Given the description of an element on the screen output the (x, y) to click on. 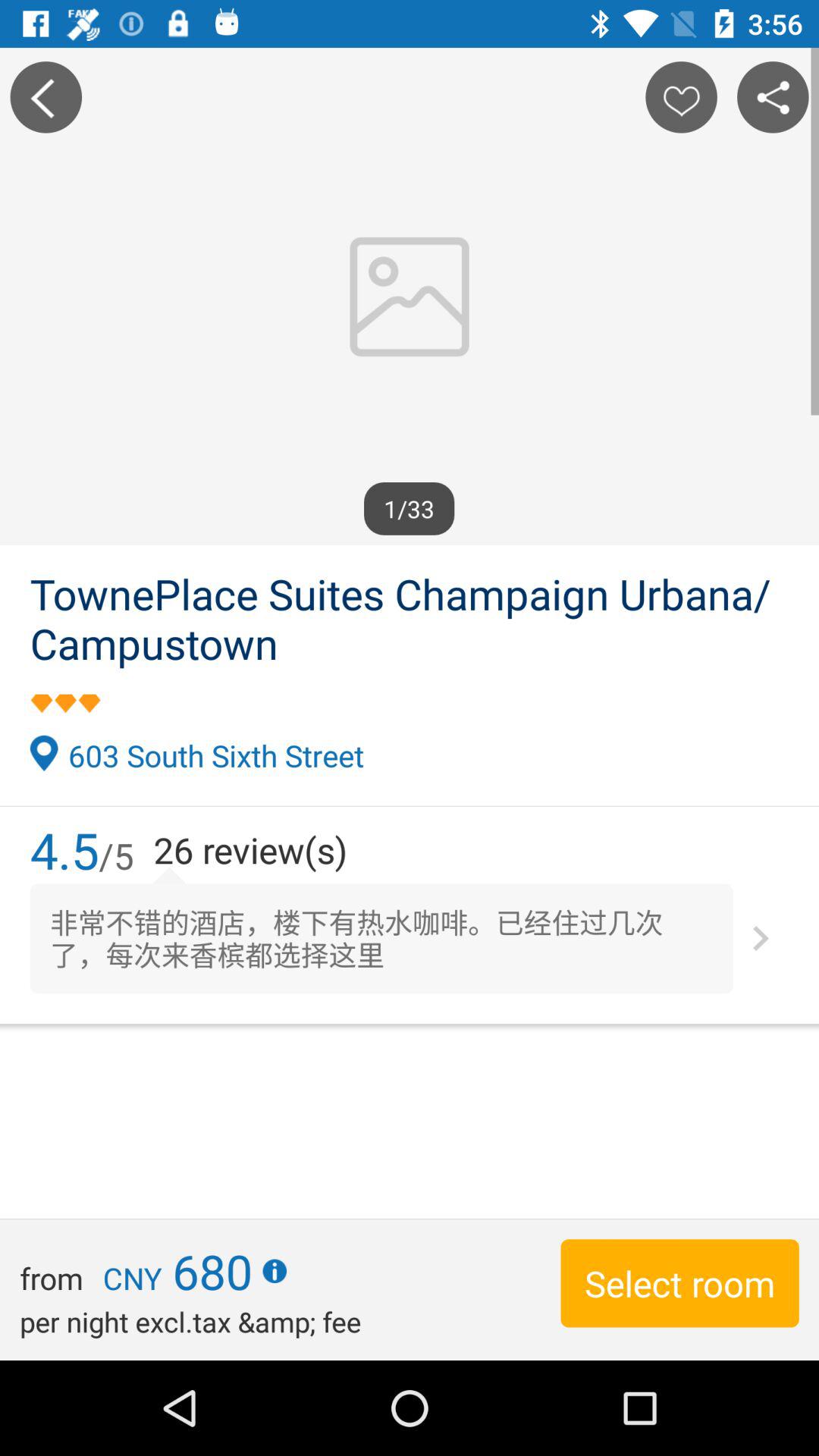
go back (45, 97)
